Given the description of an element on the screen output the (x, y) to click on. 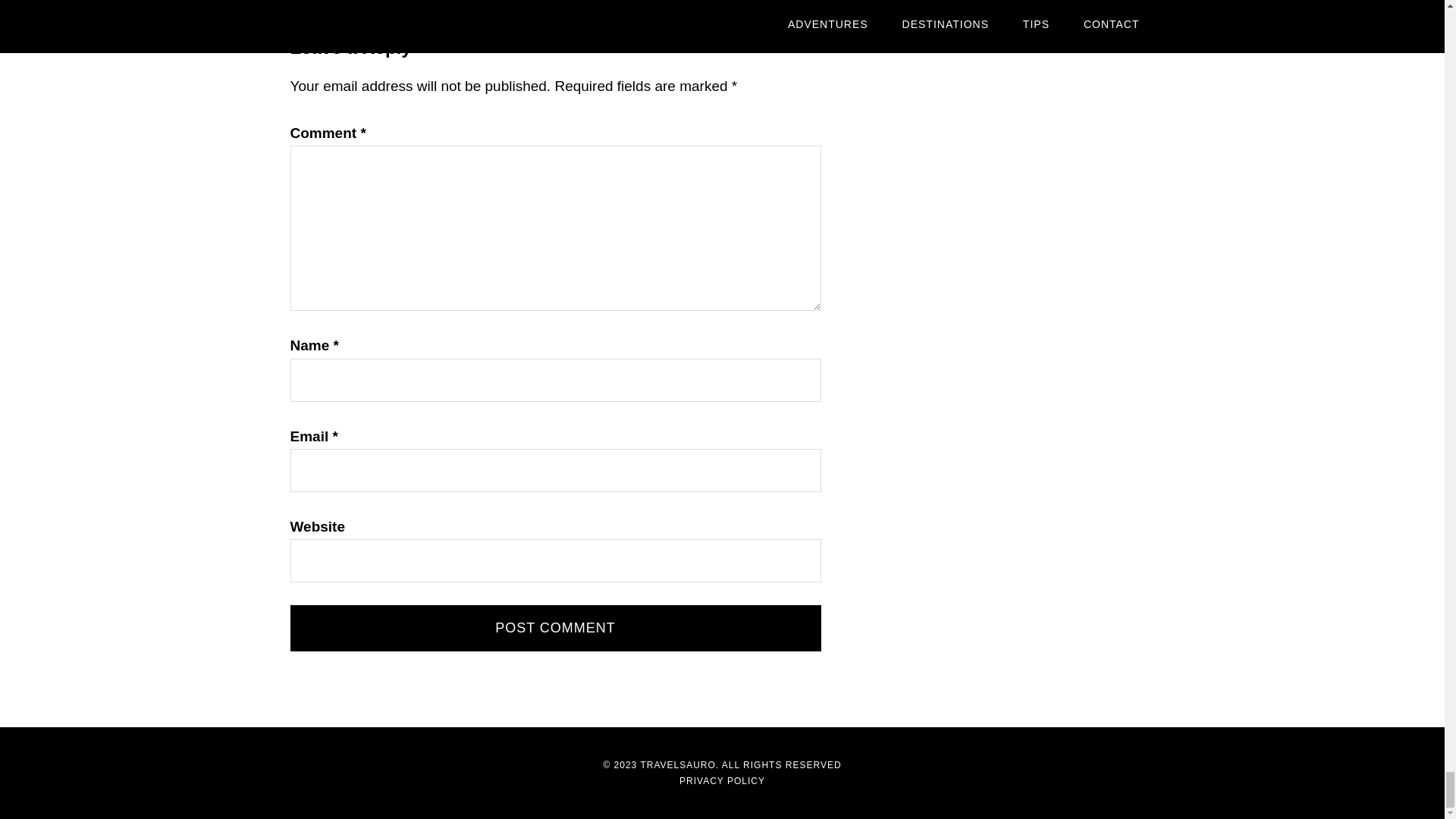
Post Comment (555, 628)
